Given the description of an element on the screen output the (x, y) to click on. 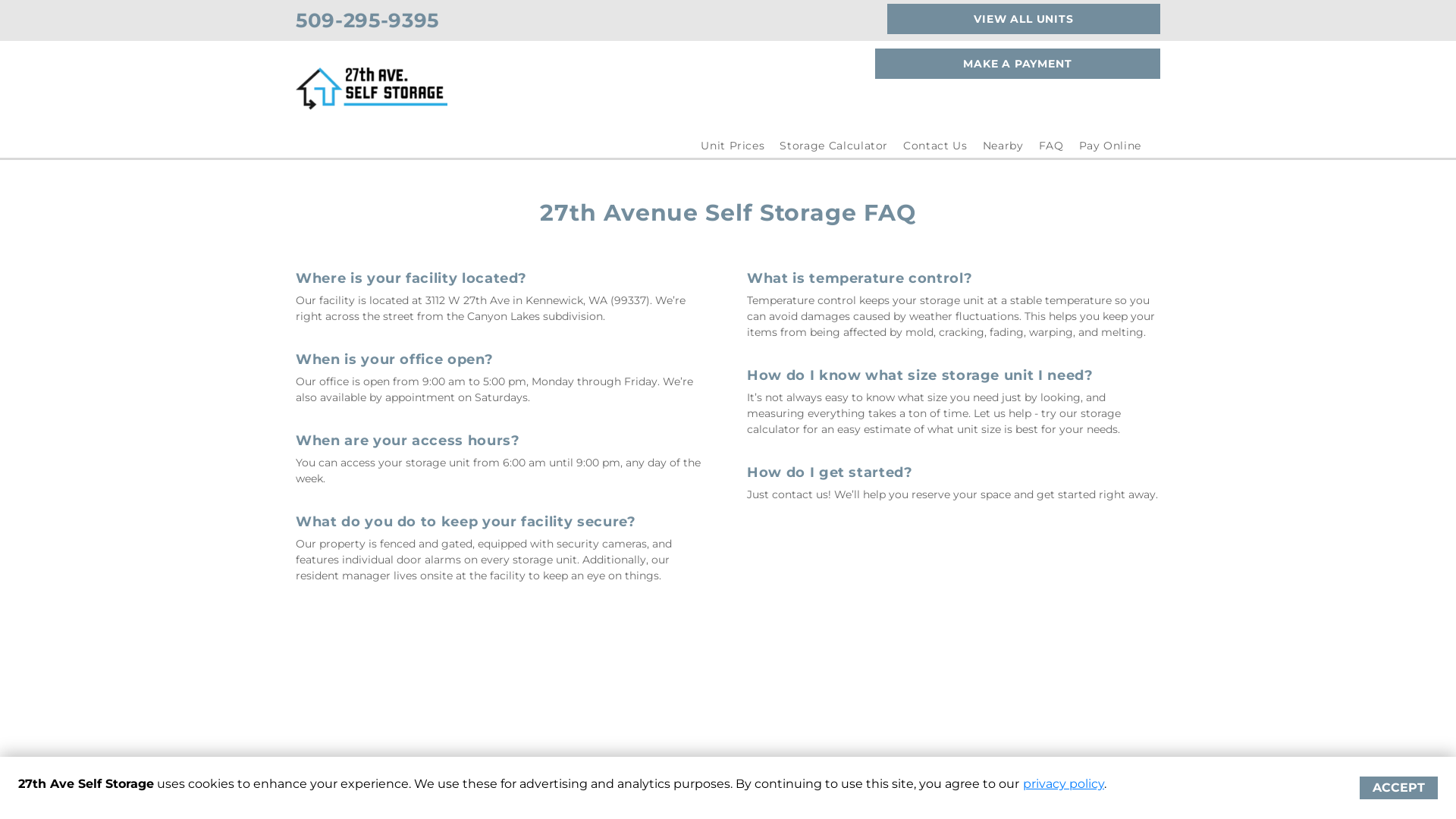
Storage Calculator Element type: text (833, 145)
privacy policy Element type: text (1063, 783)
Powered by Element type: text (354, 796)
FAQ Element type: text (1050, 145)
509-295-9395 Element type: text (367, 20)
Privacy Element type: text (806, 796)
Unit Prices Element type: text (732, 145)
Terms Element type: text (762, 796)
VIEW ALL UNITS Element type: text (1023, 18)
Nearby Element type: text (1002, 145)
Contact Us Element type: text (935, 145)
MAKE A PAYMENT Element type: text (1017, 63)
Pay Online Element type: text (1109, 145)
ACCEPT Element type: text (1398, 787)
Admin Element type: text (1142, 796)
